Given the description of an element on the screen output the (x, y) to click on. 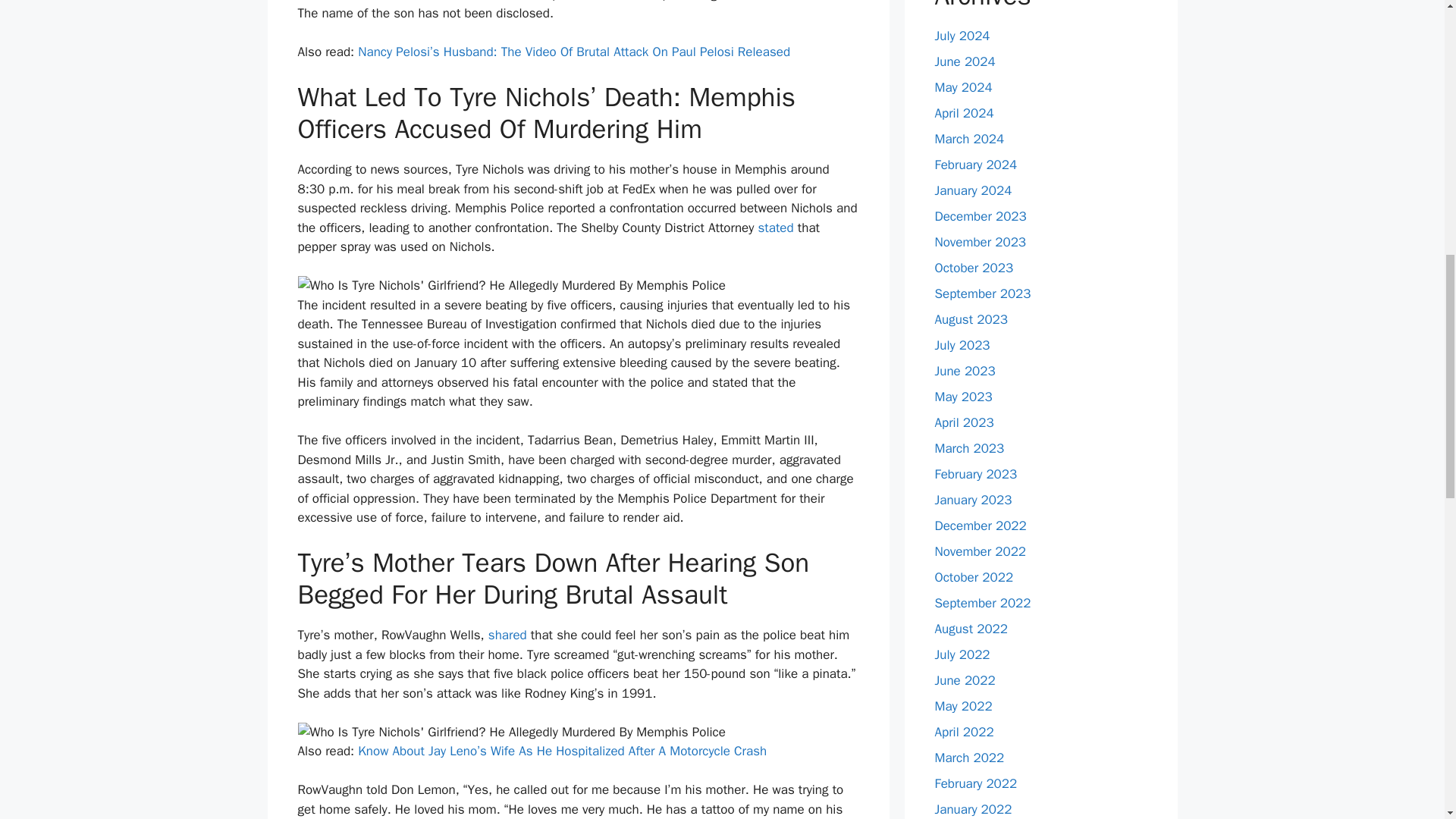
shared (507, 634)
stated (775, 227)
June 2024 (964, 61)
July 2024 (962, 35)
